Given the description of an element on the screen output the (x, y) to click on. 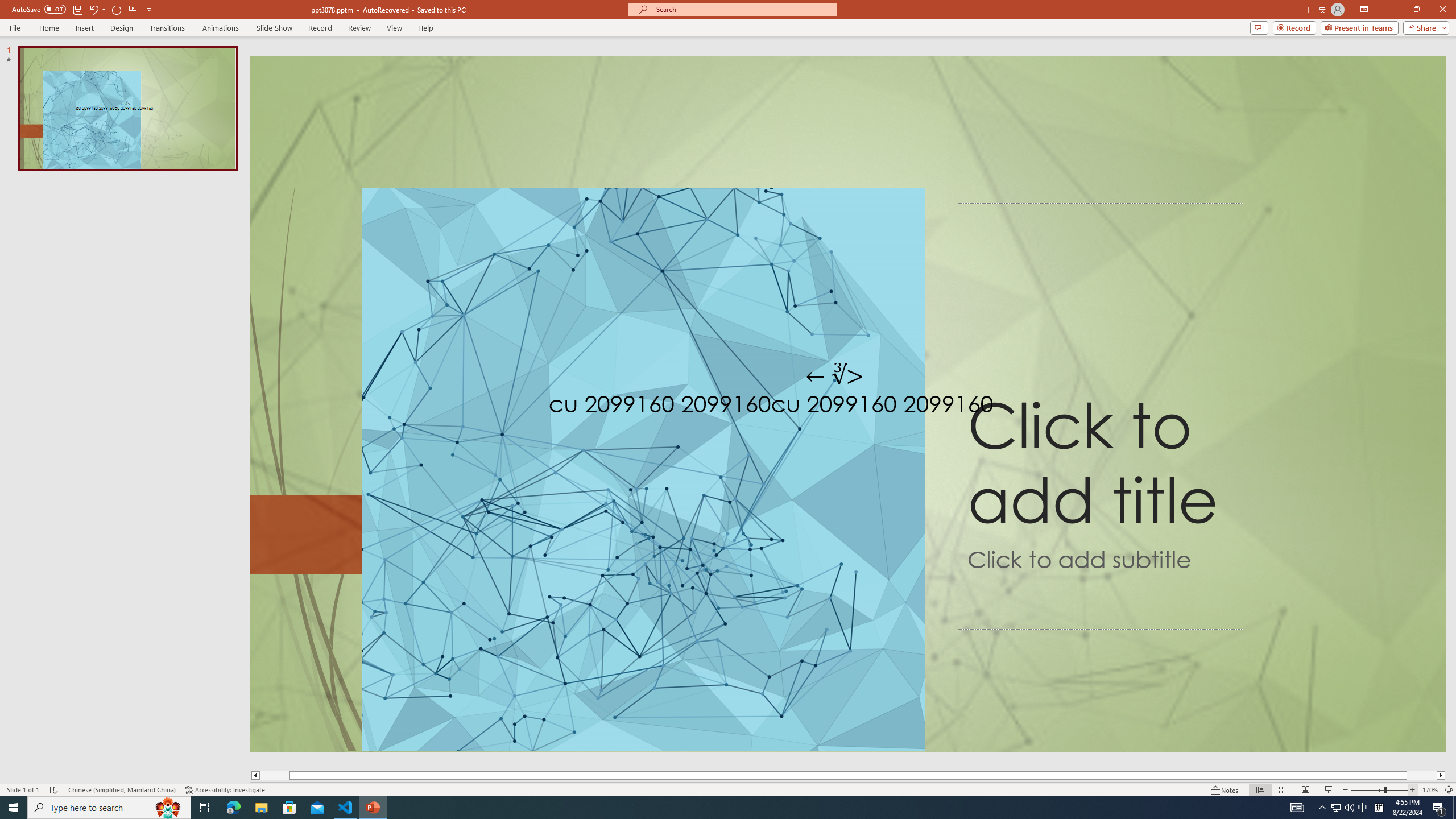
Notes  (1225, 790)
Close (1442, 9)
Slide Sorter (1282, 790)
Insert (83, 28)
Reading View (1305, 790)
Review (359, 28)
Present in Teams (1359, 27)
Customize Quick Access Toolbar (149, 9)
Ribbon Display Options (1364, 9)
System (6, 6)
View (395, 28)
Zoom In (1412, 790)
Slide (127, 108)
Share (1423, 27)
Normal (1260, 790)
